Given the description of an element on the screen output the (x, y) to click on. 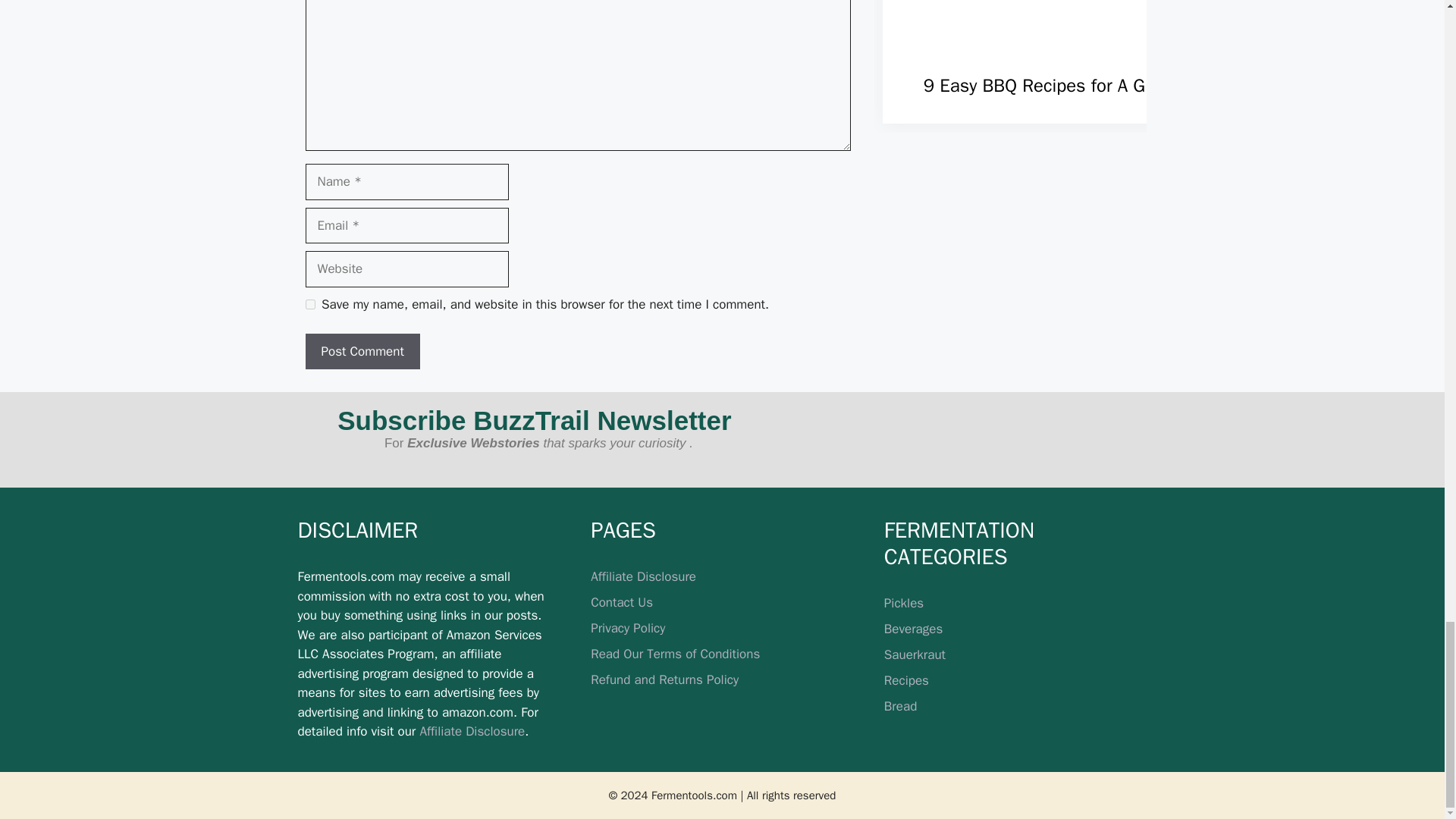
Post Comment (361, 351)
Post Comment (361, 351)
yes (309, 304)
